Given the description of an element on the screen output the (x, y) to click on. 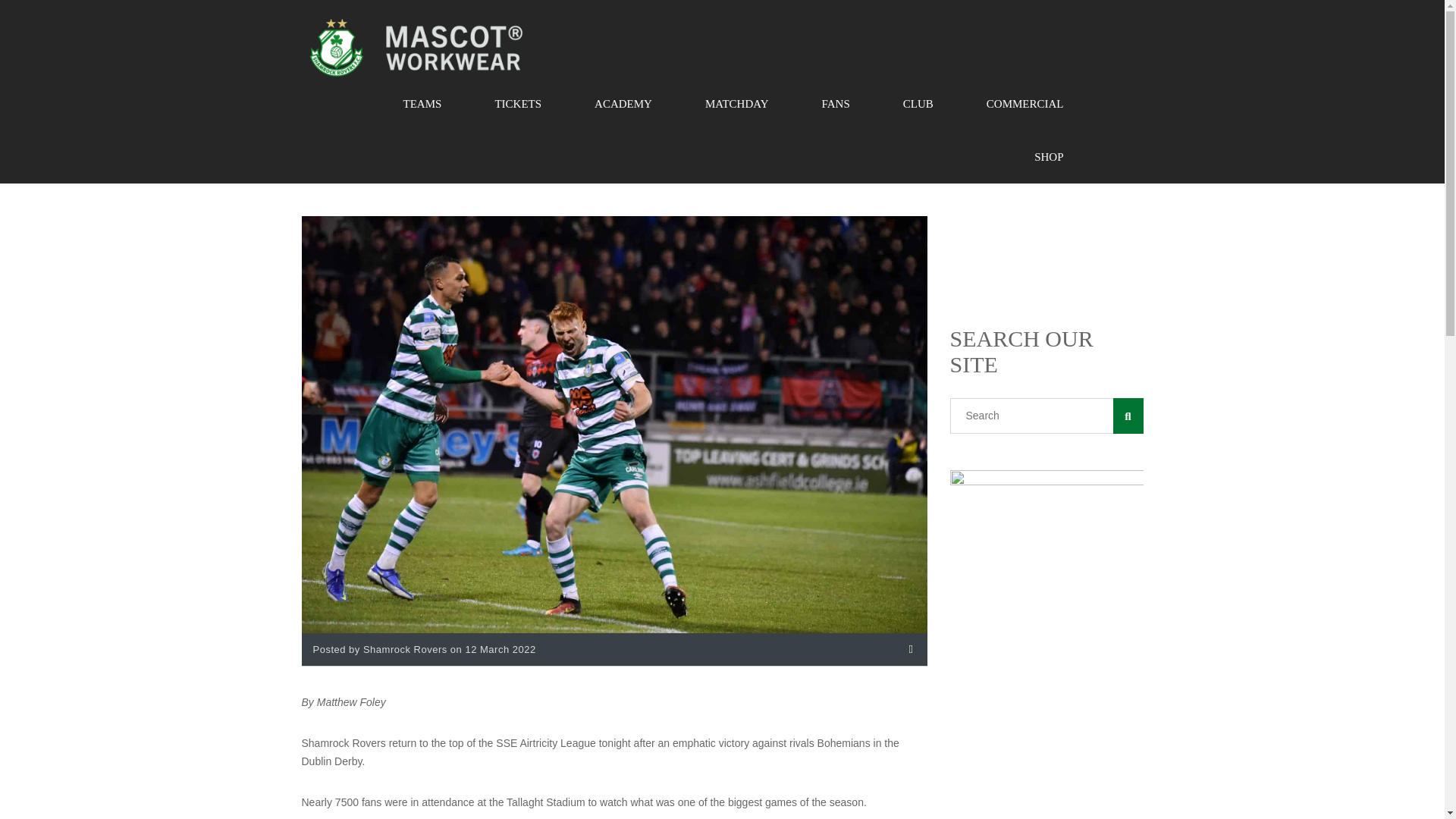
ACADEMY (622, 103)
Submit (337, 618)
TEAMS (422, 103)
Home (415, 47)
TICKETS (517, 103)
